Given the description of an element on the screen output the (x, y) to click on. 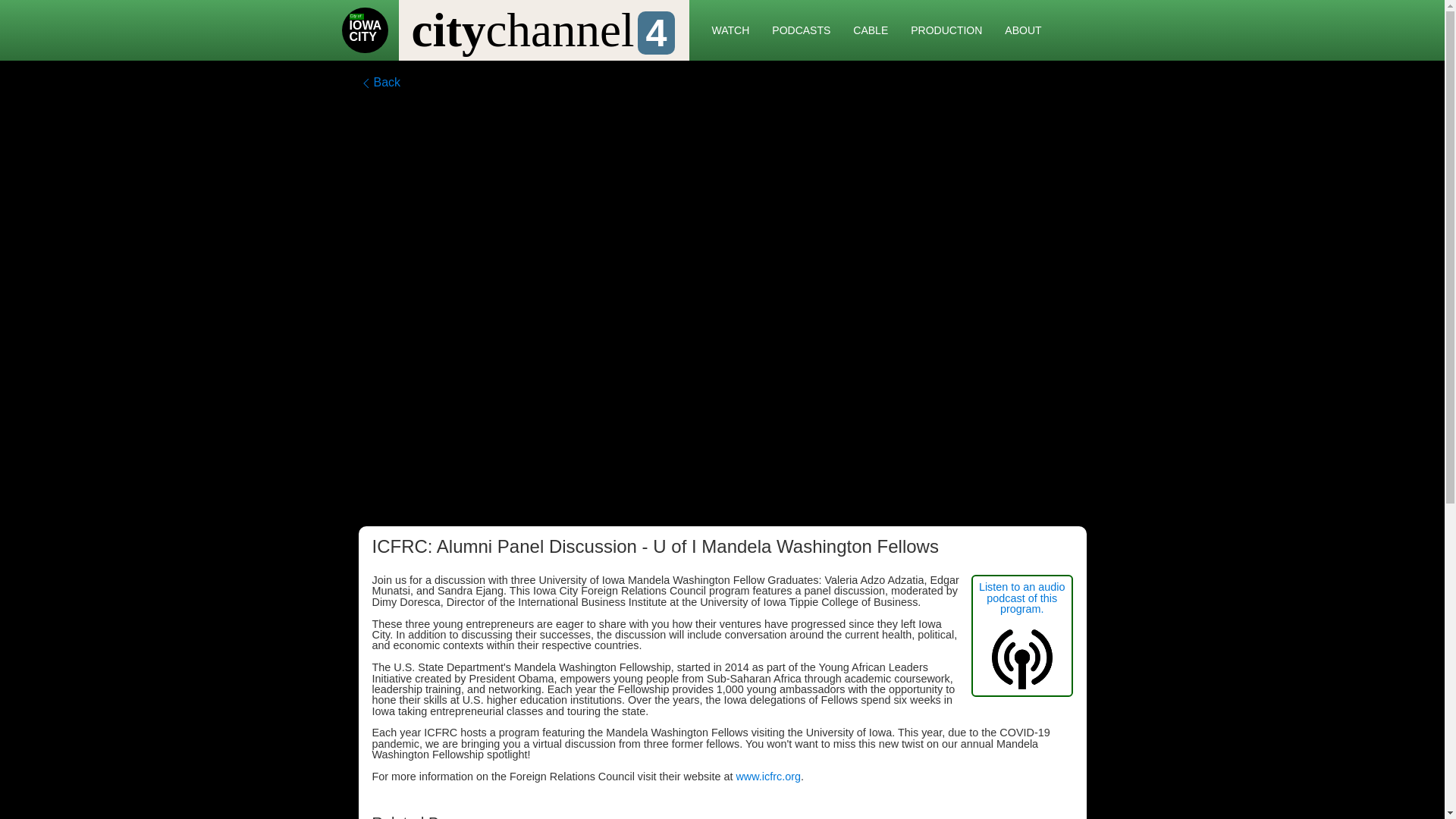
Back (379, 82)
WATCH (730, 30)
PODCASTS (800, 30)
citychannel4 (543, 30)
ABOUT (1022, 30)
CABLE (870, 30)
www.icfrc.org (767, 776)
PRODUCTION (369, 30)
